Given the description of an element on the screen output the (x, y) to click on. 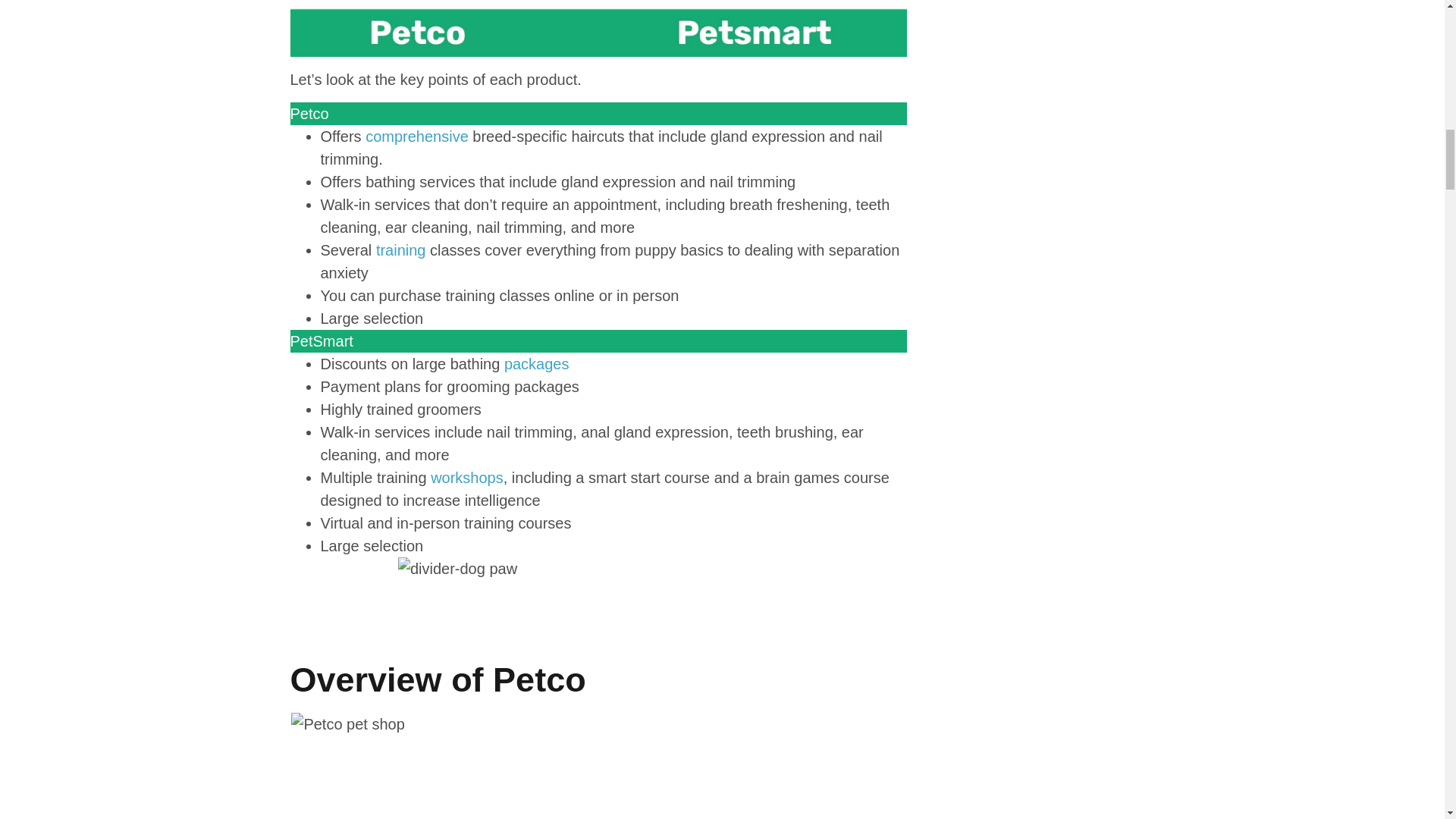
workshops (466, 477)
comprehensive (416, 135)
training (400, 249)
packages (536, 363)
